Given the description of an element on the screen output the (x, y) to click on. 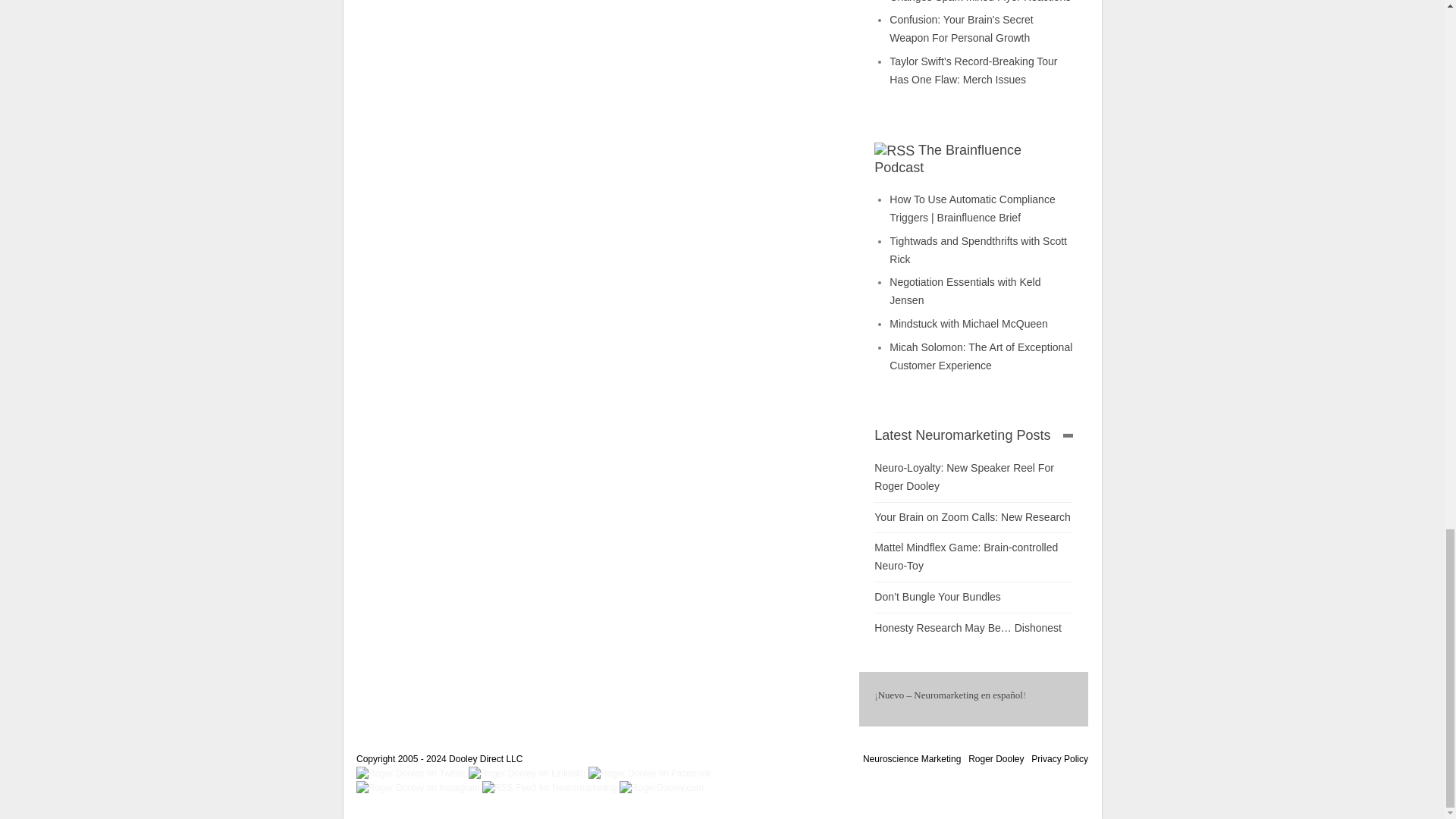
Twitter (412, 772)
RSS (550, 787)
Linkedin (528, 772)
Instagram (418, 787)
Facebook (649, 772)
